Given the description of an element on the screen output the (x, y) to click on. 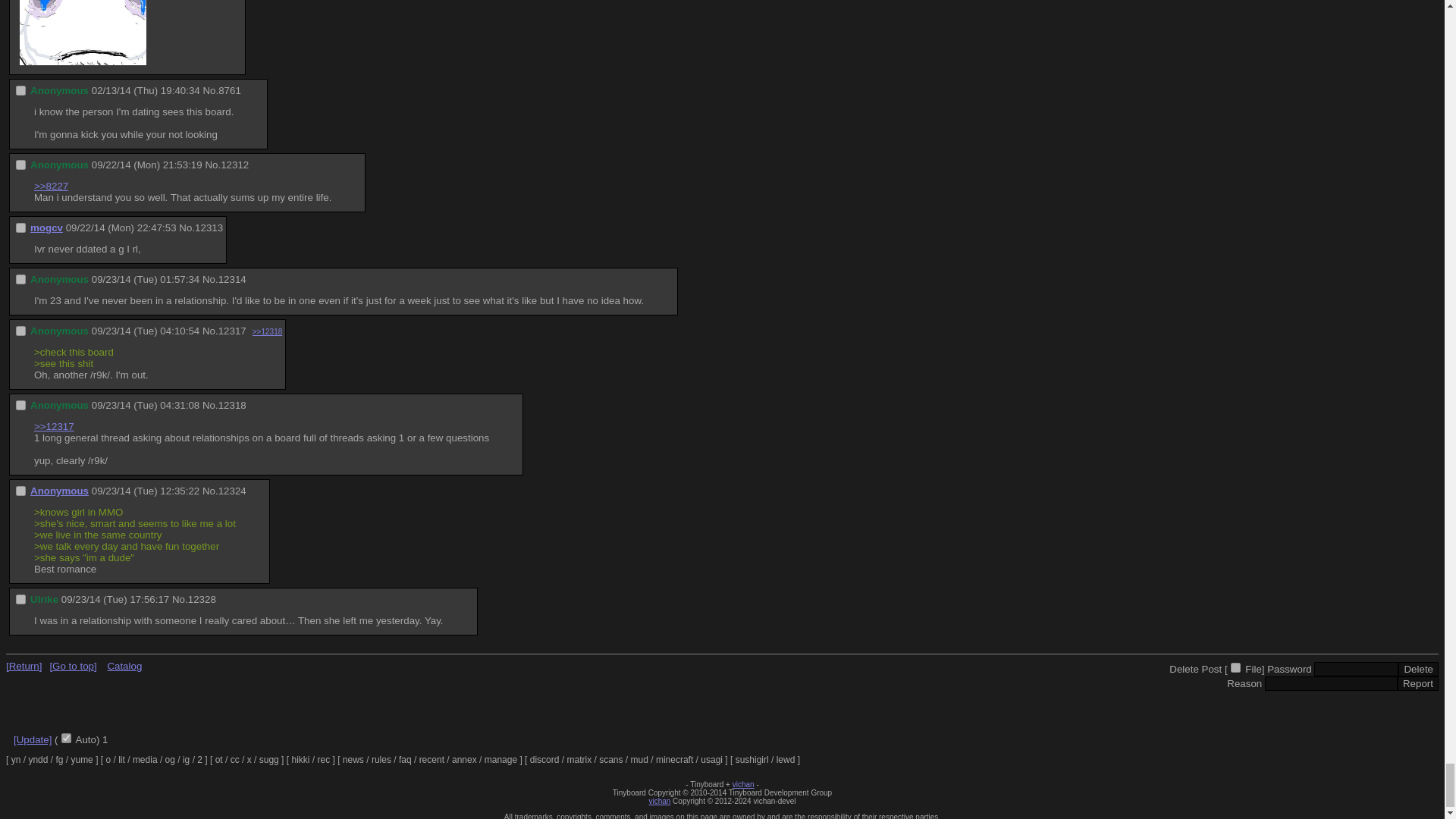
Delete file only (1235, 667)
Yume Nikki General (16, 759)
